Given the description of an element on the screen output the (x, y) to click on. 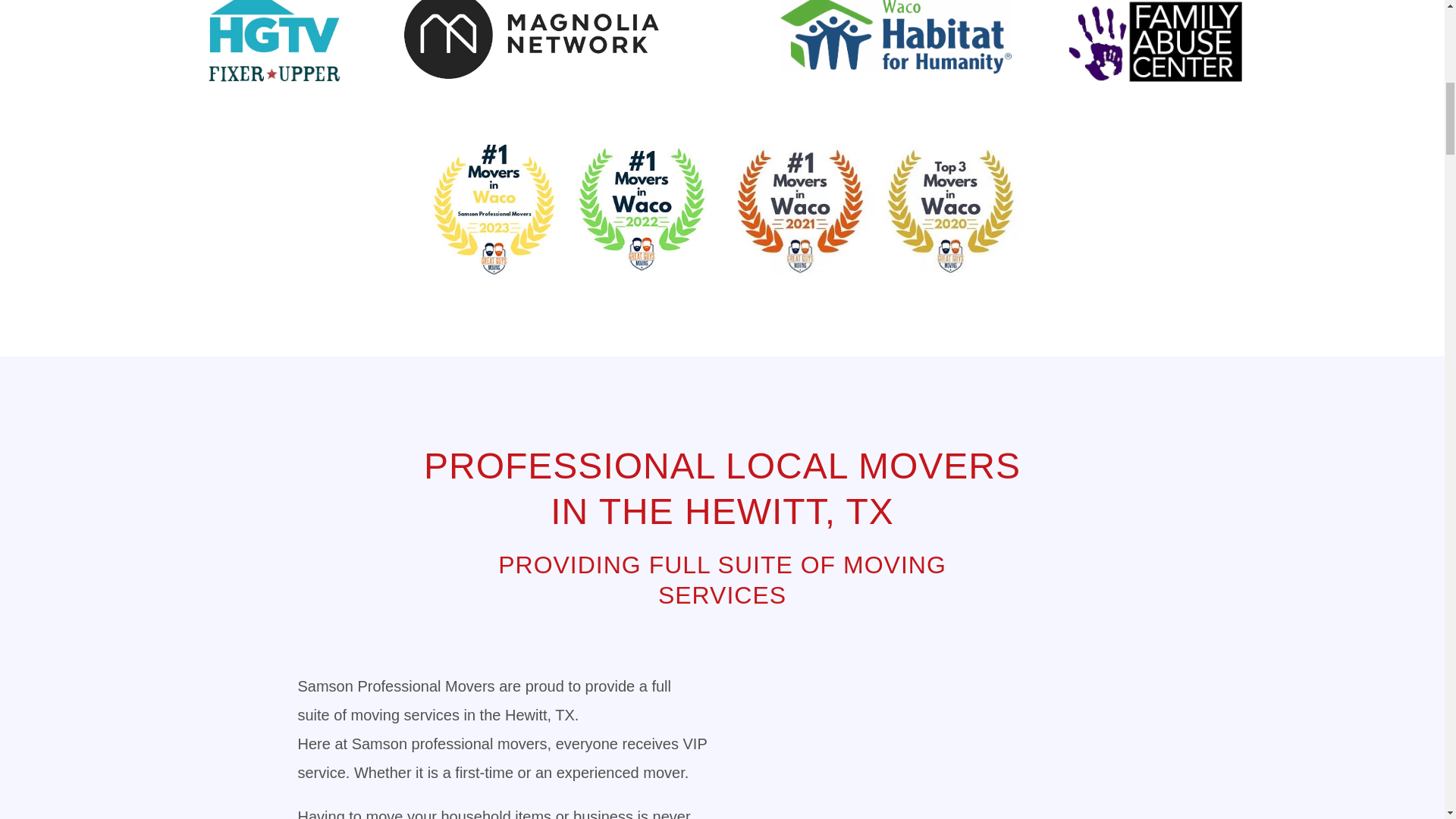
hewitt, tx (941, 739)
